Given the description of an element on the screen output the (x, y) to click on. 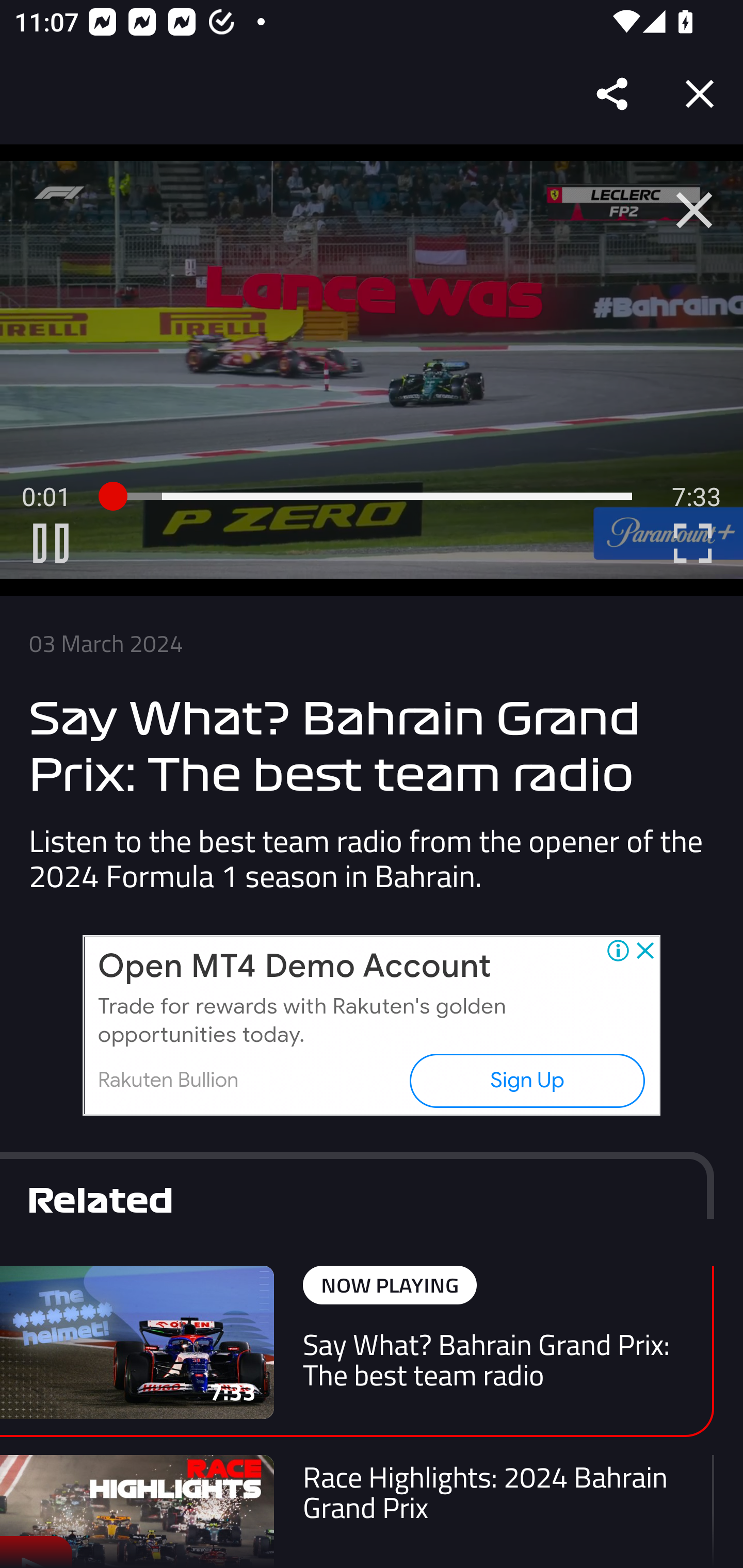
Share (612, 93)
Close (699, 93)
 Close (693, 210)
B Pause (50, 543)
C Enter Fullscreen (692, 543)
Open MT4 Demo Account (294, 966)
Sign Up (526, 1080)
Rakuten Bullion (168, 1080)
7:13 Race Highlights: 2024 Bahrain Grand Prix (357, 1511)
